Given the description of an element on the screen output the (x, y) to click on. 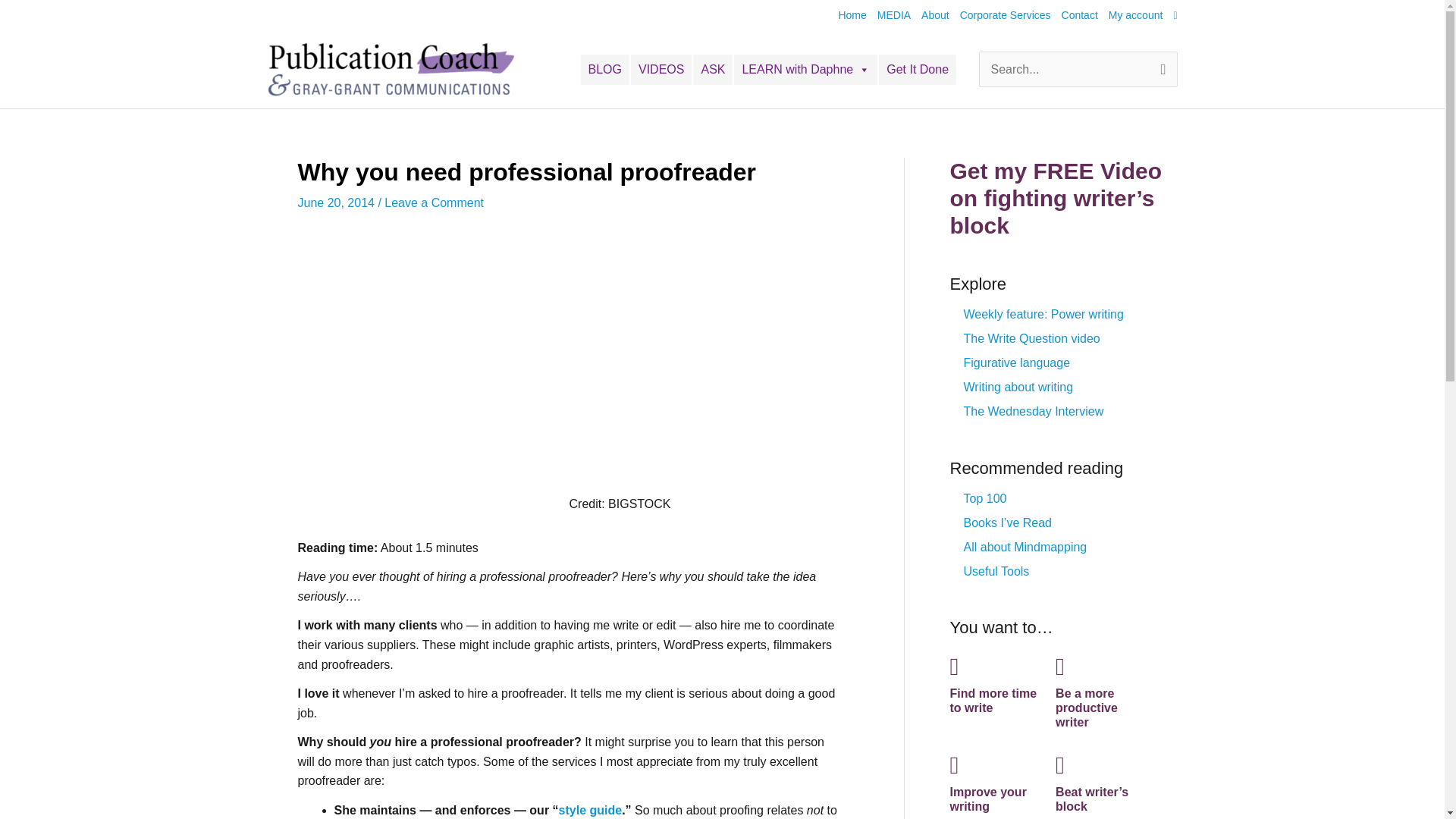
My account (1130, 15)
BLOG (604, 69)
Search (1141, 72)
style guide (591, 809)
Get It Done (917, 69)
VIDEOS (660, 69)
Leave a Comment (433, 202)
Search (1141, 72)
Contact (1074, 15)
ASK (712, 69)
